Given the description of an element on the screen output the (x, y) to click on. 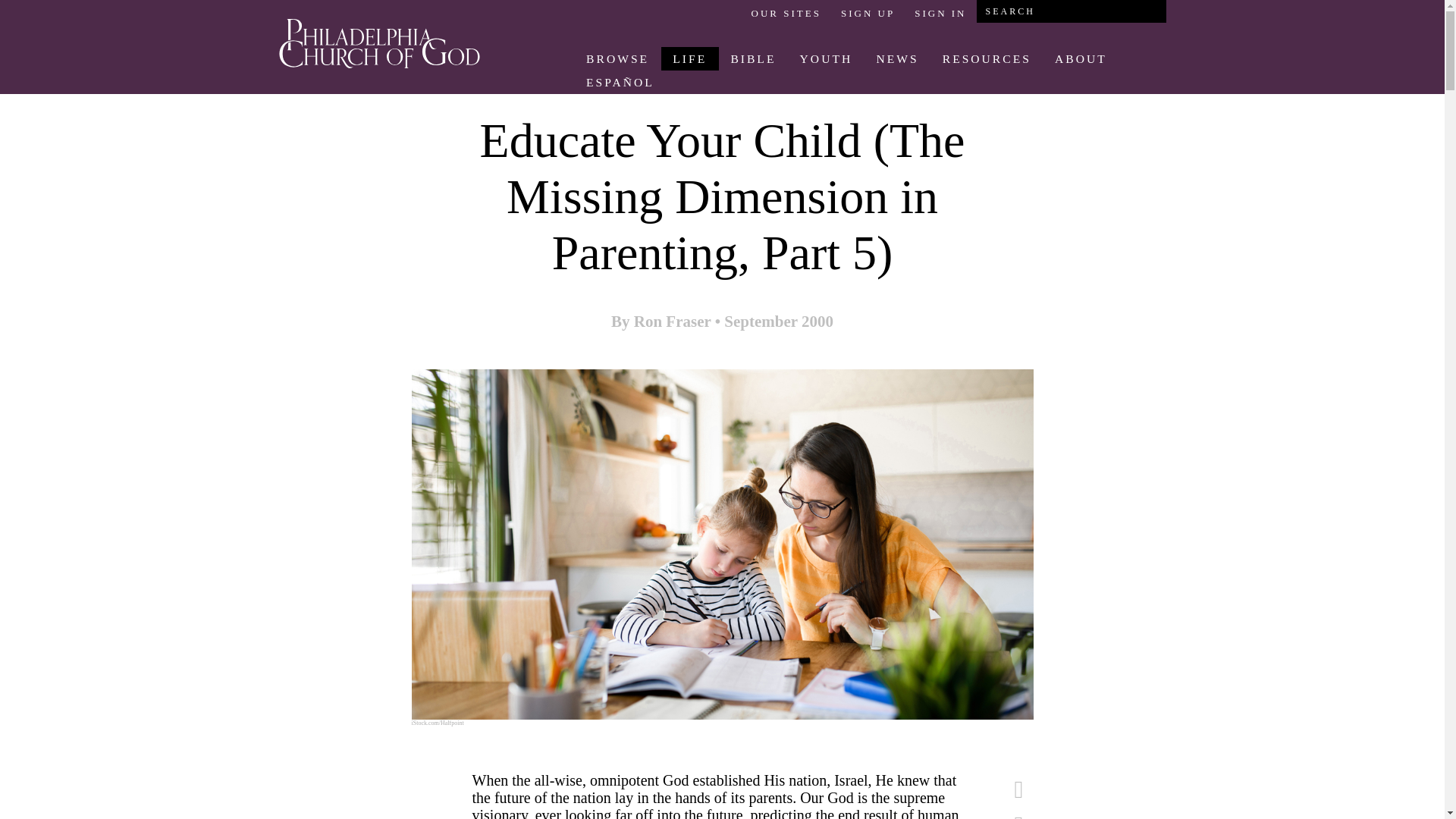
BROWSE (618, 58)
RESOURCES (986, 58)
OUR SITES (786, 12)
NEWS (897, 58)
LIFE (690, 58)
YOUTH (825, 58)
BIBLE (753, 58)
SIGN UP (867, 12)
ABOUT (1080, 58)
SIGN IN (939, 12)
